Given the description of an element on the screen output the (x, y) to click on. 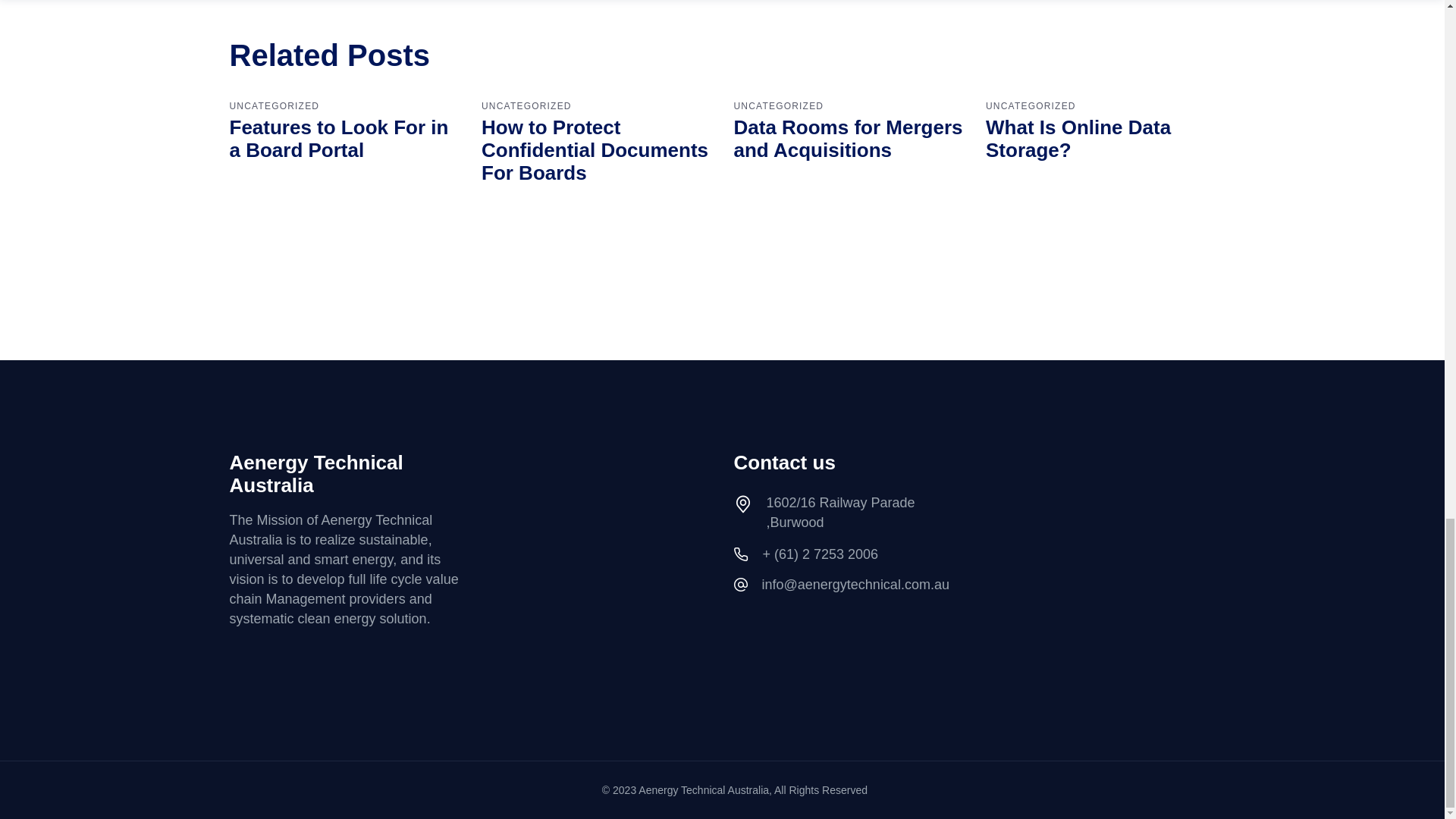
Data Rooms for Mergers and Acquisitions (847, 138)
How to Protect Confidential Documents For Boards (594, 150)
Features to Look For in a Board Portal (338, 138)
What Is Online Data Storage? (1077, 138)
